Given the description of an element on the screen output the (x, y) to click on. 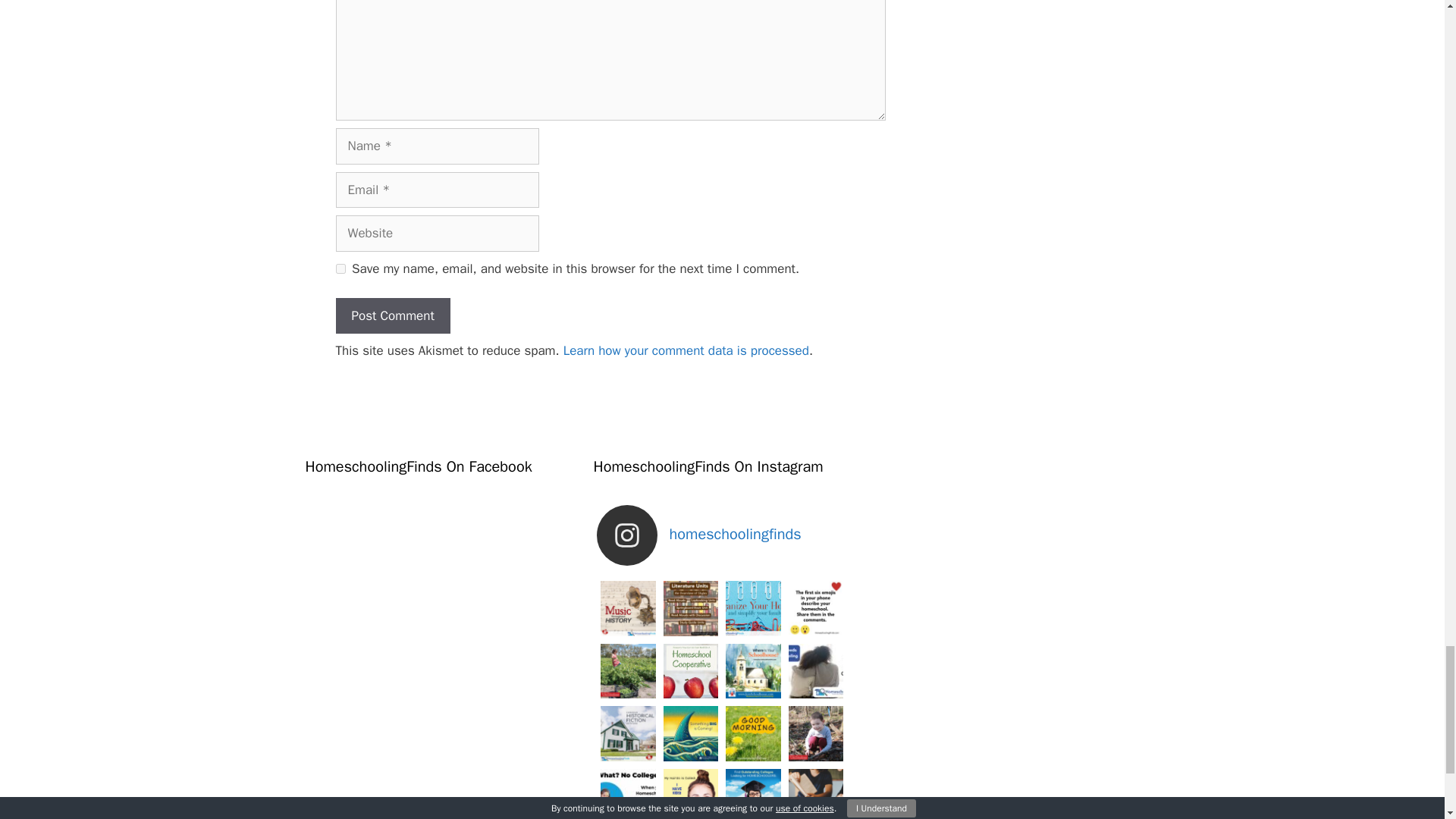
yes (339, 268)
Post Comment (391, 316)
